Given the description of an element on the screen output the (x, y) to click on. 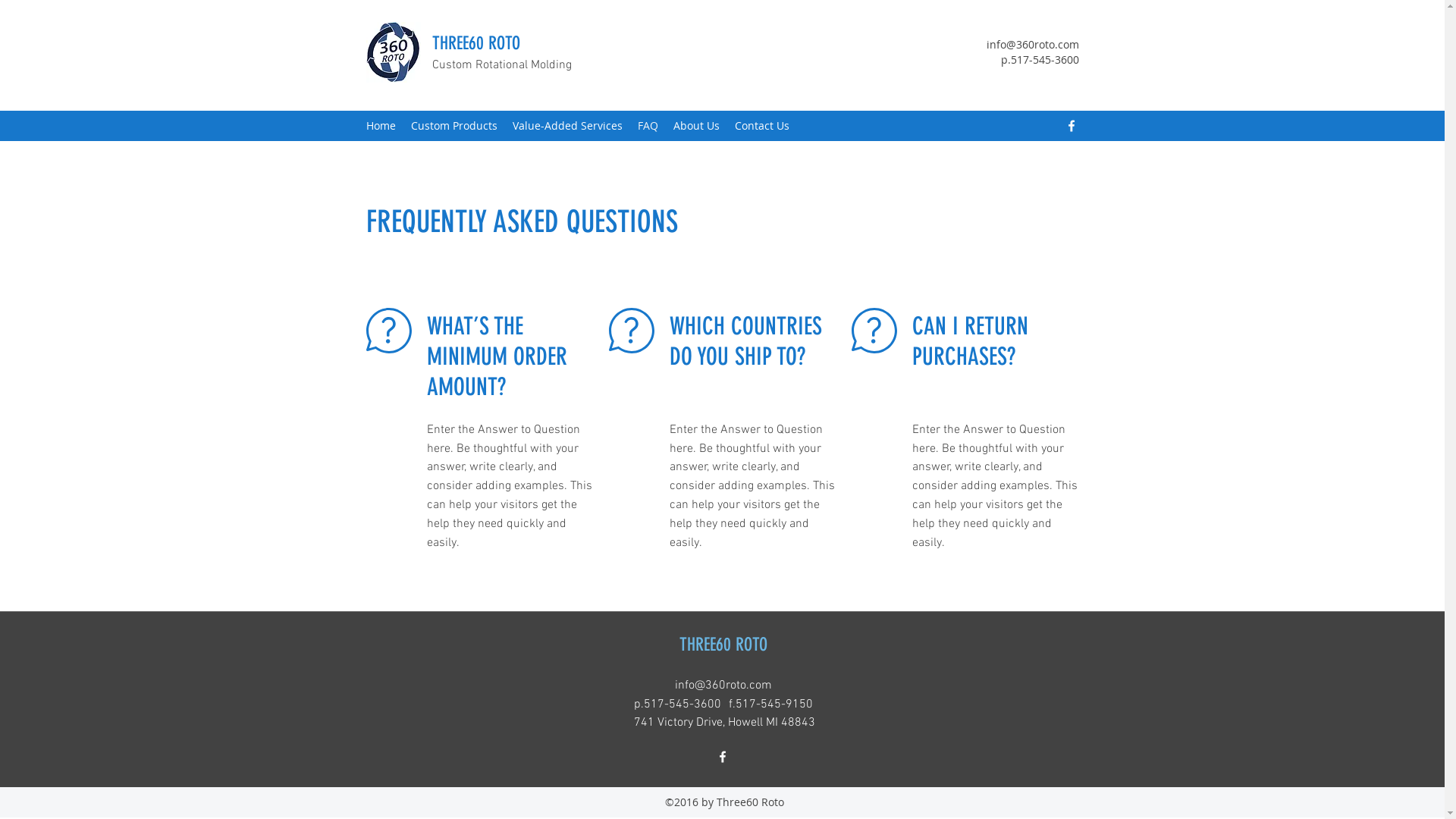
info@360roto.com Element type: text (722, 685)
Custom Products Element type: text (454, 125)
FAQ Element type: text (647, 125)
About Us Element type: text (696, 125)
Value-Added Services Element type: text (567, 125)
info@360roto.com Element type: text (1031, 44)
Contact Us Element type: text (761, 125)
Home Element type: text (379, 125)
